Given the description of an element on the screen output the (x, y) to click on. 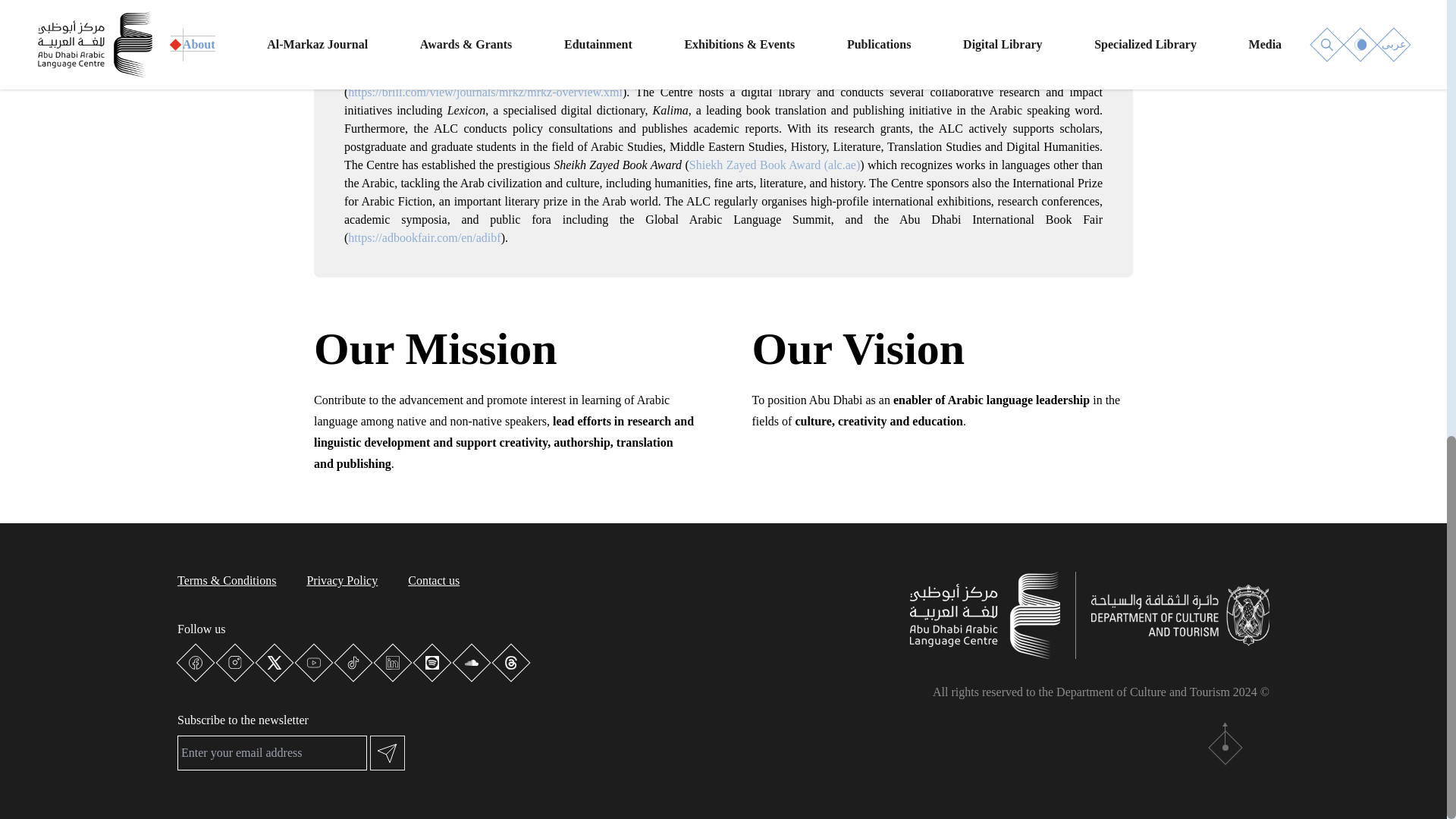
50 (1235, 243)
